Given the description of an element on the screen output the (x, y) to click on. 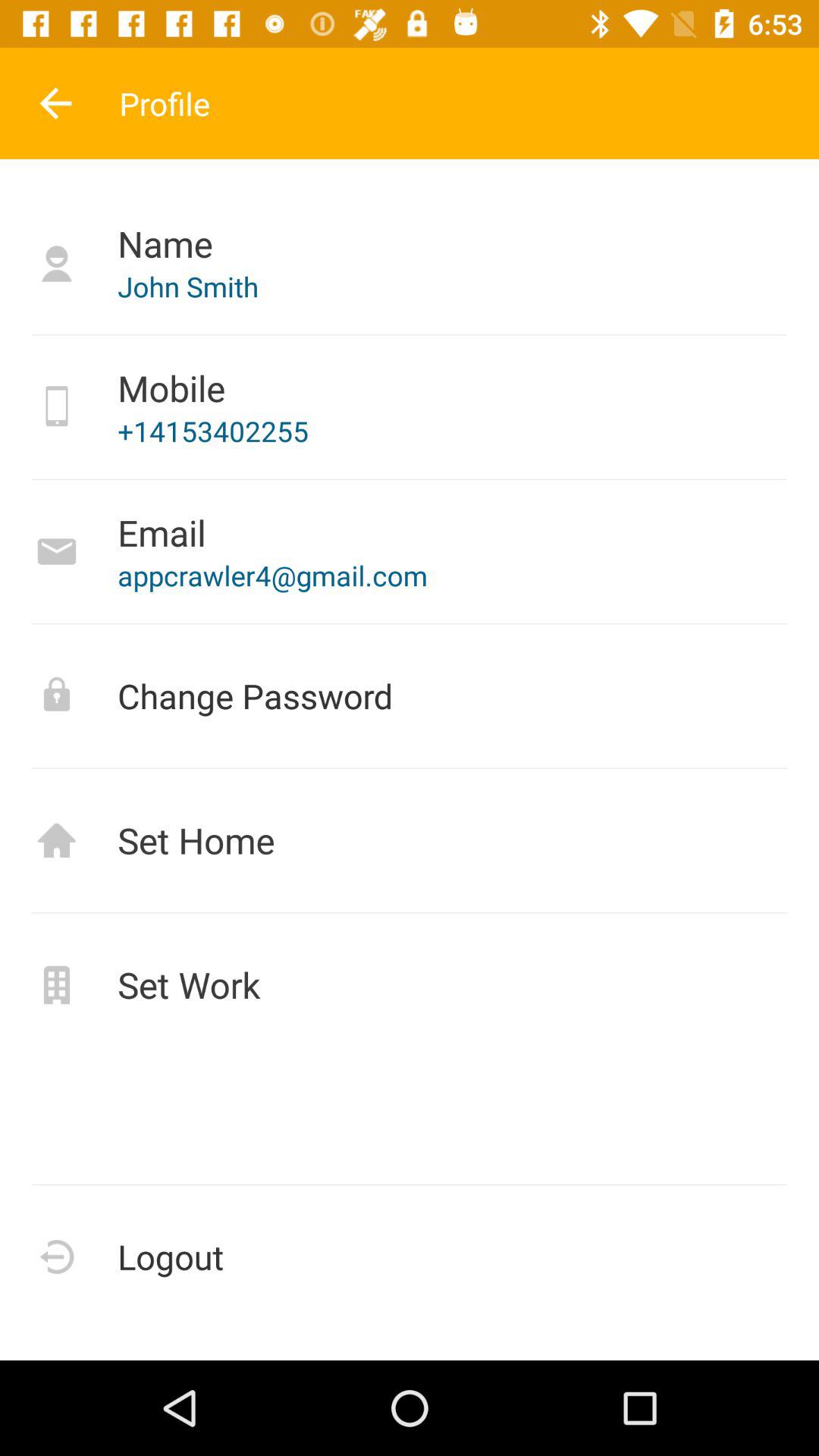
flip to the change password icon (409, 695)
